Given the description of an element on the screen output the (x, y) to click on. 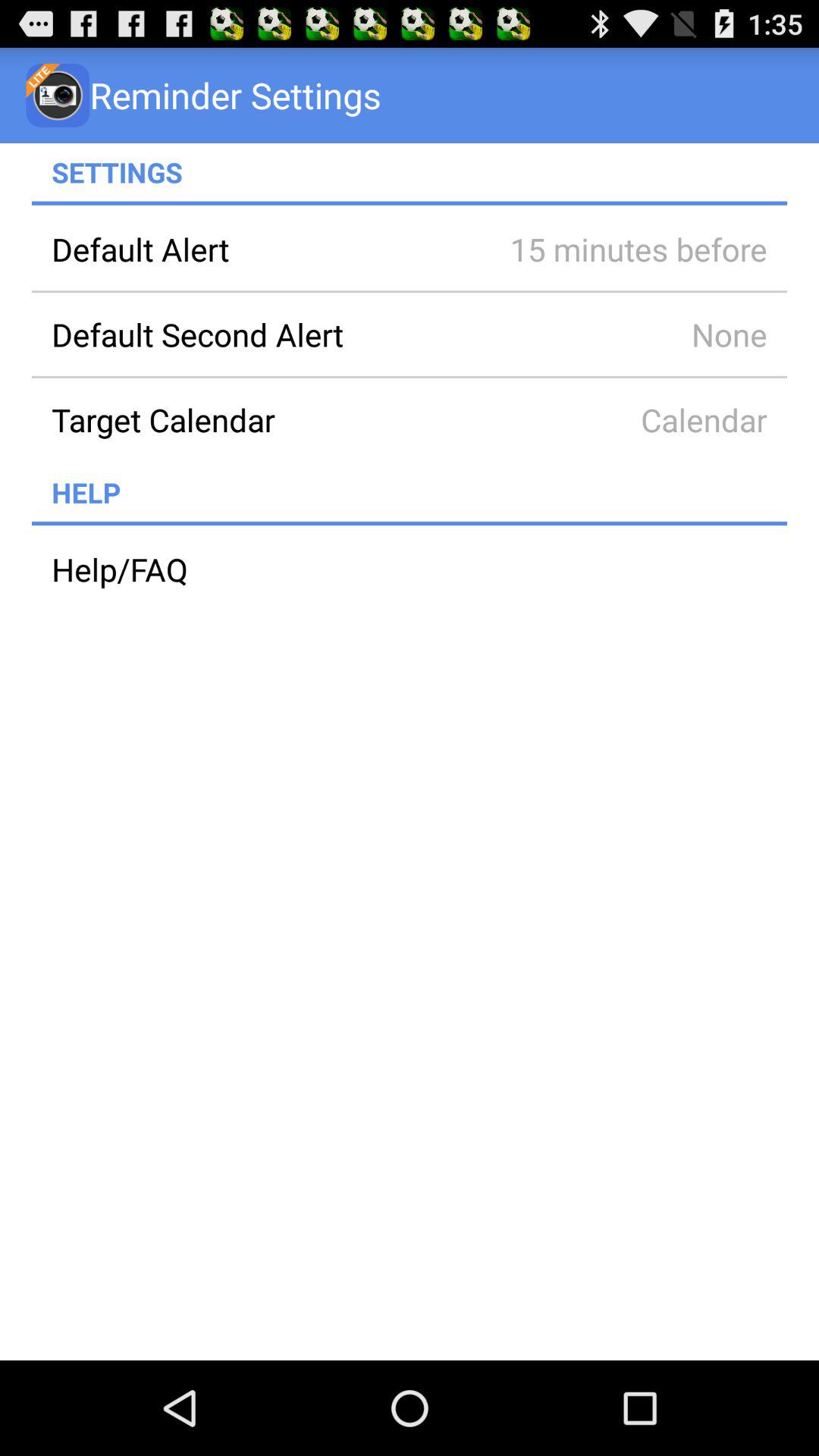
click app above none item (617, 248)
